Given the description of an element on the screen output the (x, y) to click on. 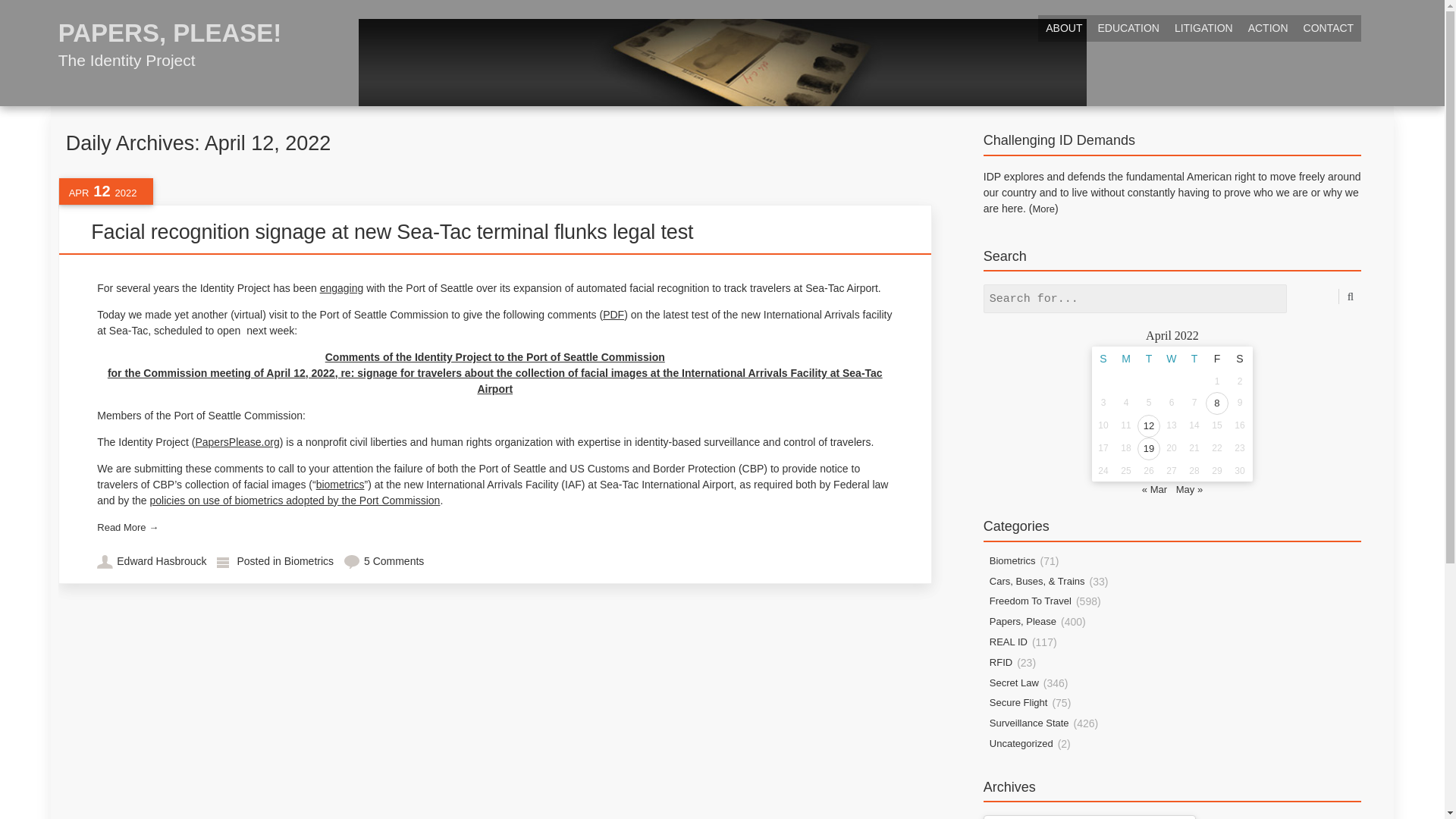
ACTION (1267, 28)
Wednesday (1171, 358)
Saturday (1239, 358)
CONTACT (1328, 28)
Friday (1216, 358)
Thursday (1193, 358)
EDUCATION (1127, 28)
LITIGATION (1203, 28)
Sunday (170, 40)
